Given the description of an element on the screen output the (x, y) to click on. 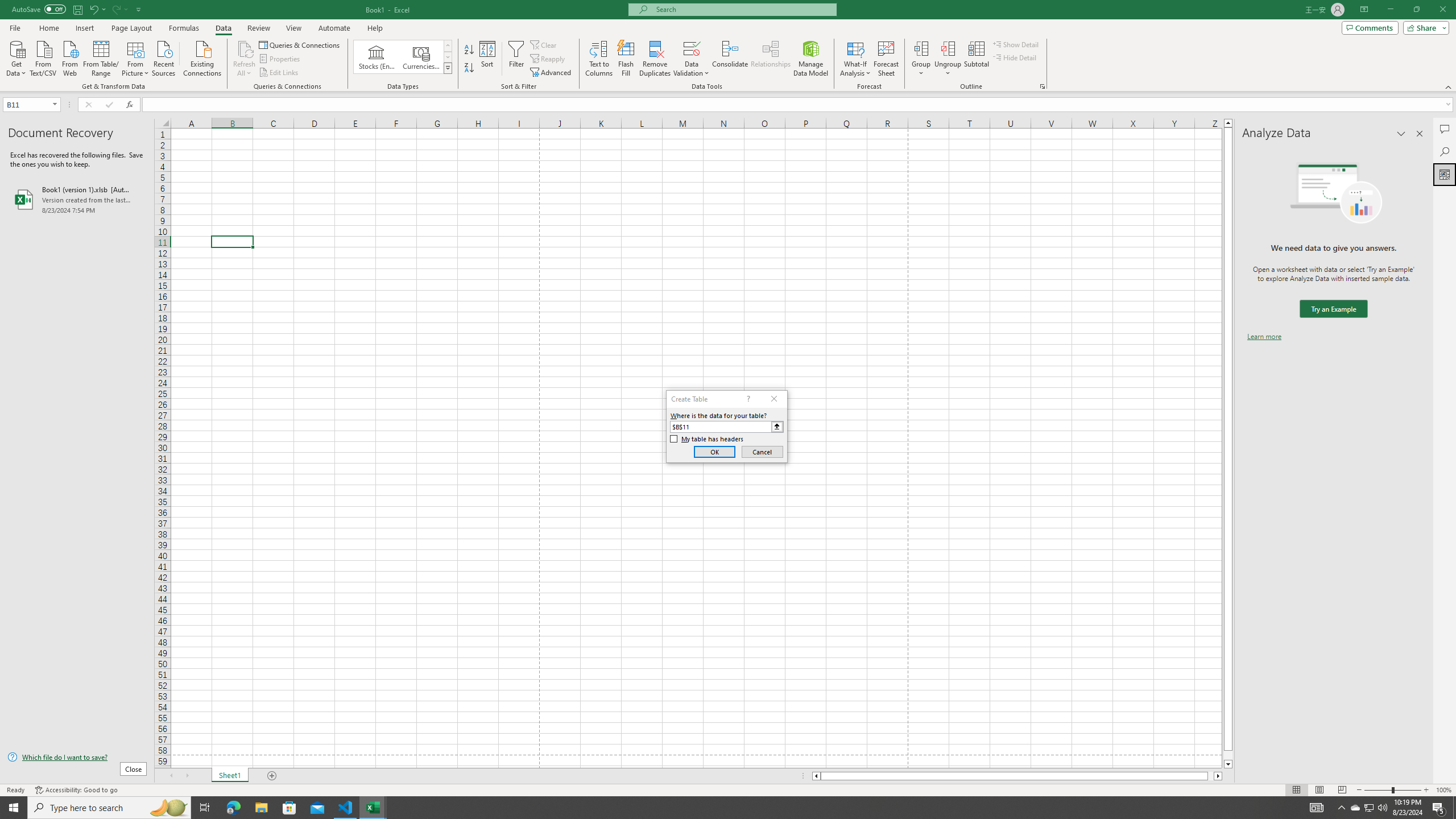
Reapply (548, 58)
Remove Duplicates (654, 58)
Ungroup... (947, 48)
Customize Quick Access Toolbar (139, 9)
Ribbon Display Options (1364, 9)
Page down (1228, 755)
Book1 (version 1).xlsb  [AutoRecovered] (77, 199)
Row up (448, 45)
Analyze Data (1444, 173)
Refresh All (244, 48)
Text to Columns... (598, 58)
